Given the description of an element on the screen output the (x, y) to click on. 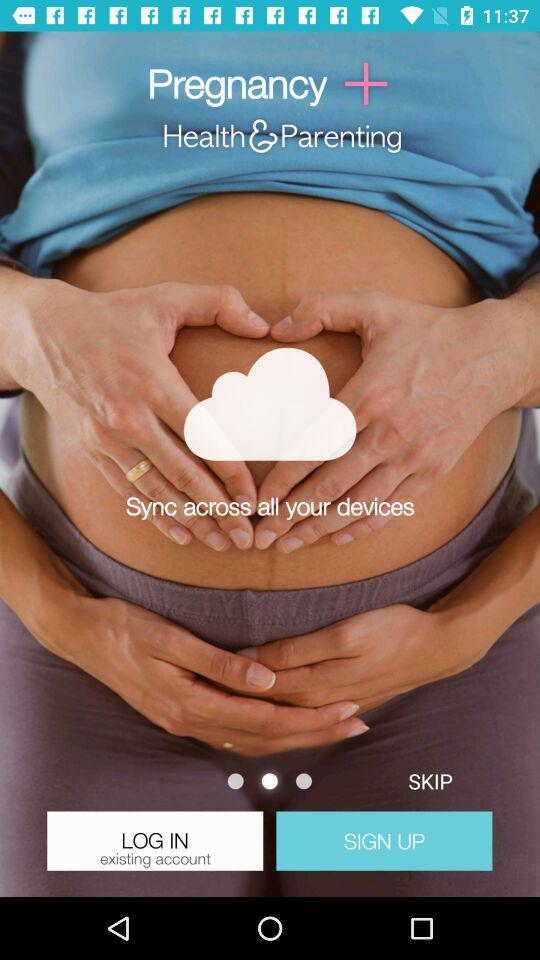
jump to the sign up icon (384, 840)
